Given the description of an element on the screen output the (x, y) to click on. 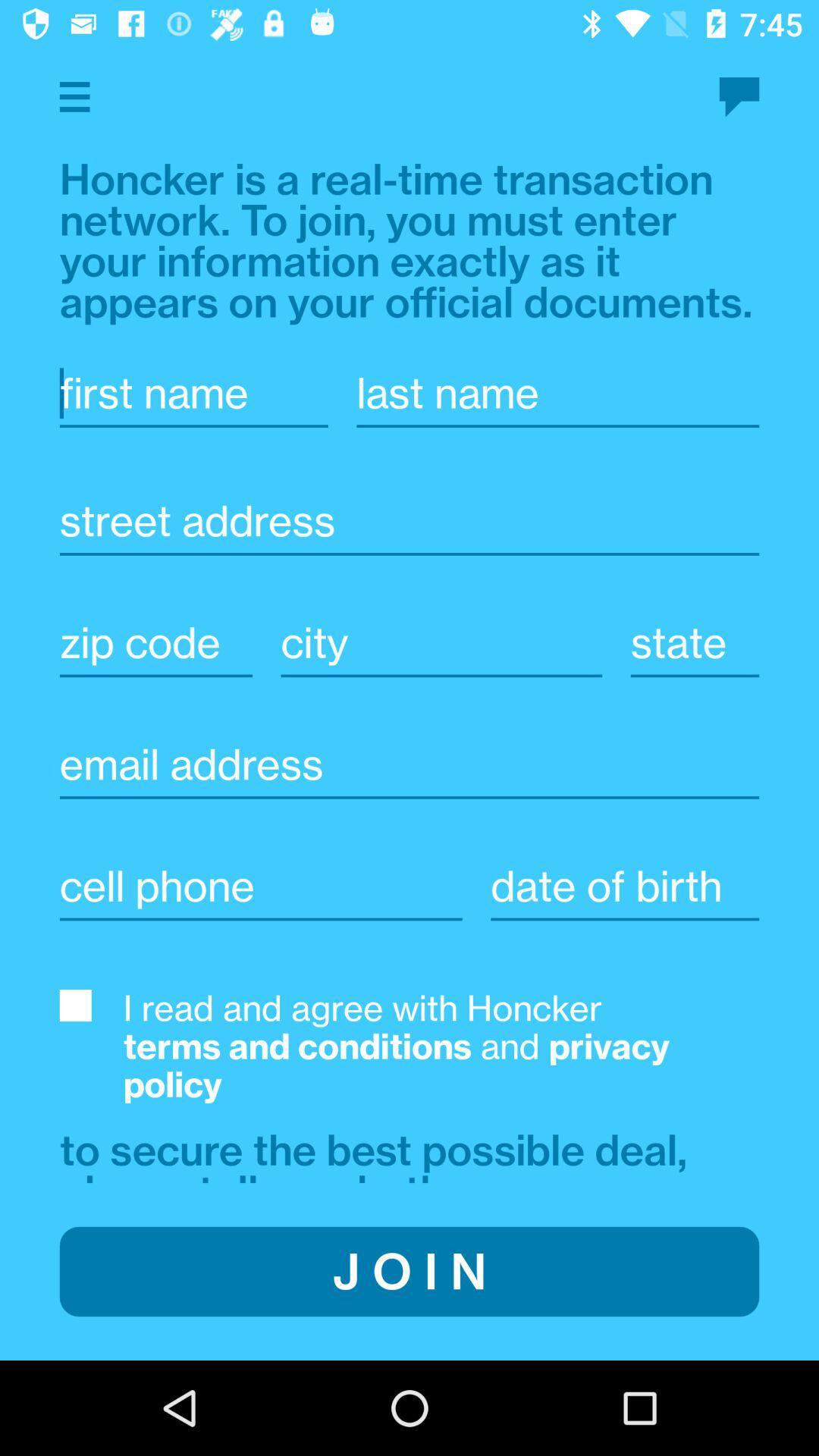
city fill in space (441, 642)
